Given the description of an element on the screen output the (x, y) to click on. 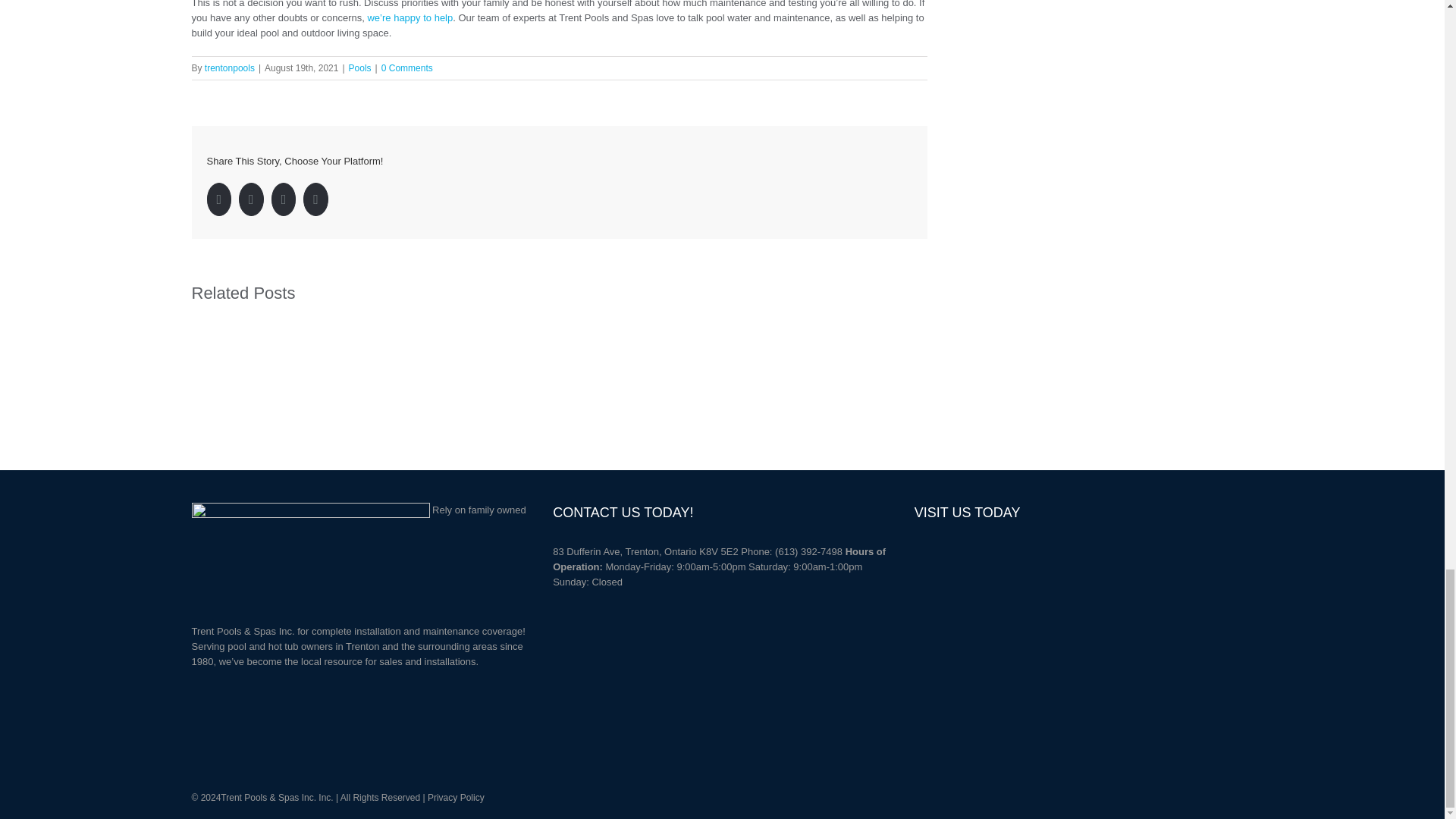
Pools (360, 68)
0 Comments (406, 68)
trentonpools (229, 68)
Posts by trentonpools (229, 68)
